Given the description of an element on the screen output the (x, y) to click on. 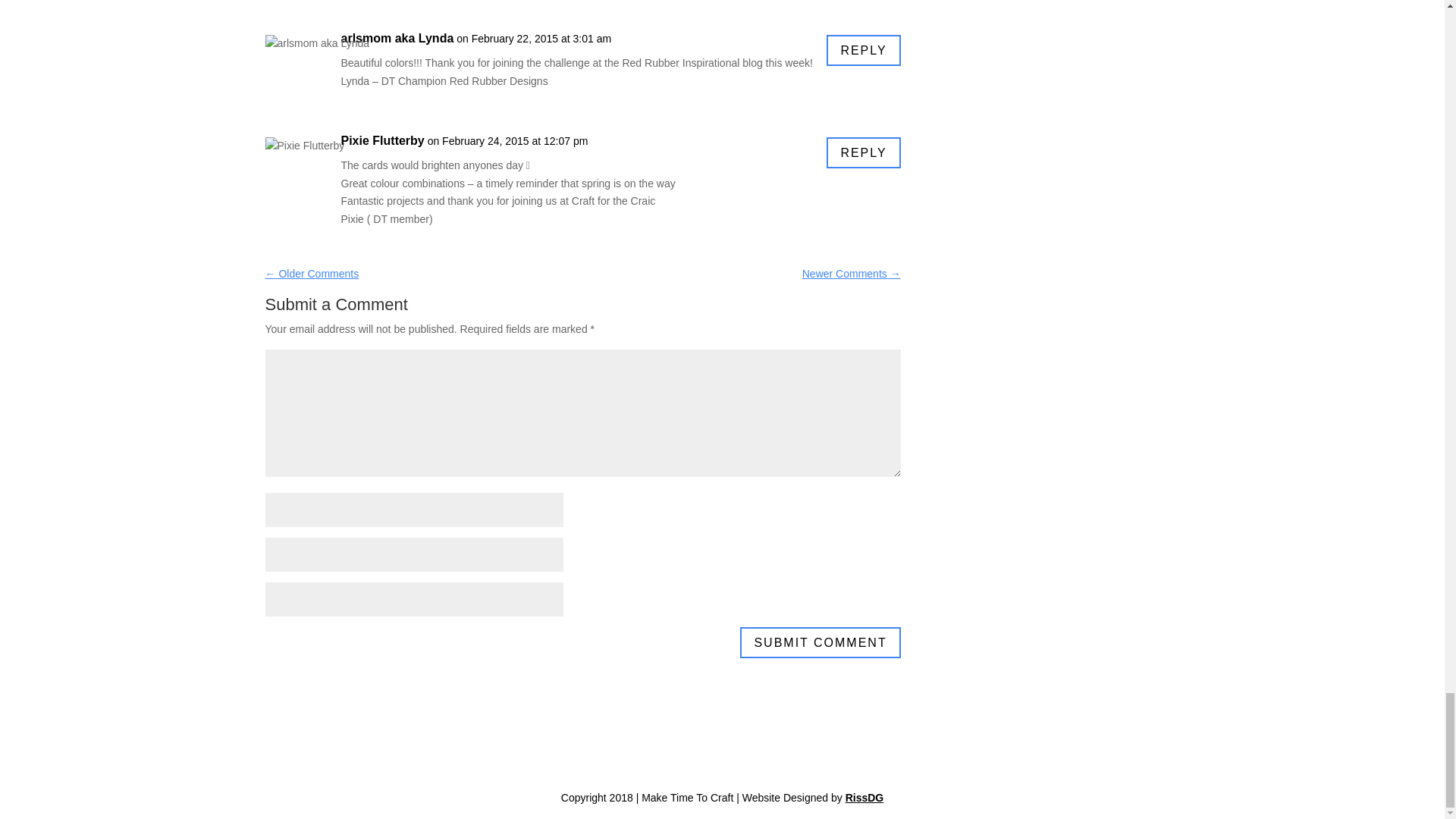
Submit Comment (819, 642)
